Given the description of an element on the screen output the (x, y) to click on. 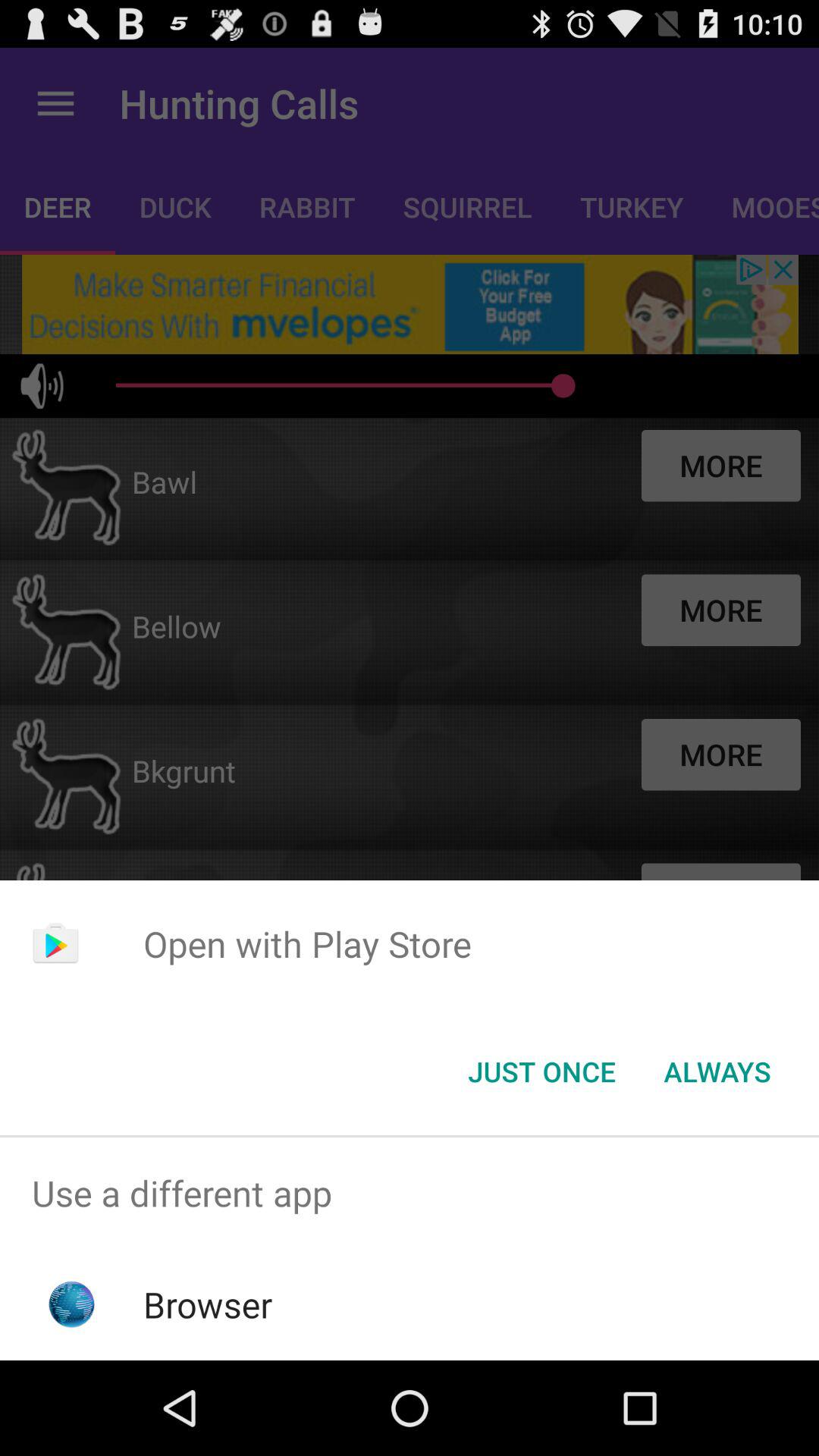
tap icon to the left of always item (541, 1071)
